Given the description of an element on the screen output the (x, y) to click on. 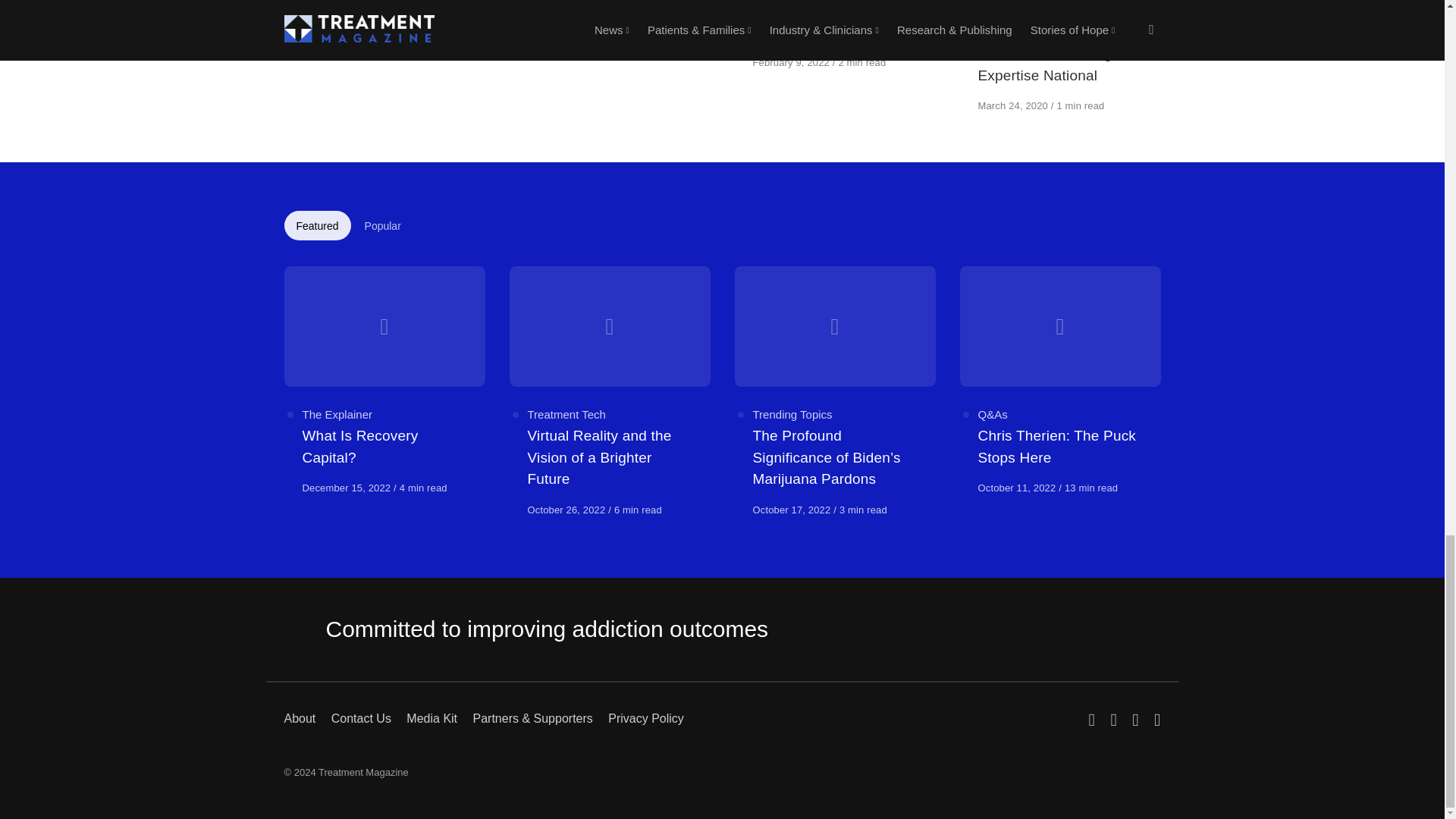
October 11, 2022 (1018, 487)
October 17, 2022 (792, 509)
March 24, 2020 (1014, 105)
August 18, 2022 (339, 41)
February 9, 2022 (791, 61)
October 26, 2022 (567, 509)
March 14, 2022 (563, 41)
December 15, 2022 (347, 487)
